Given the description of an element on the screen output the (x, y) to click on. 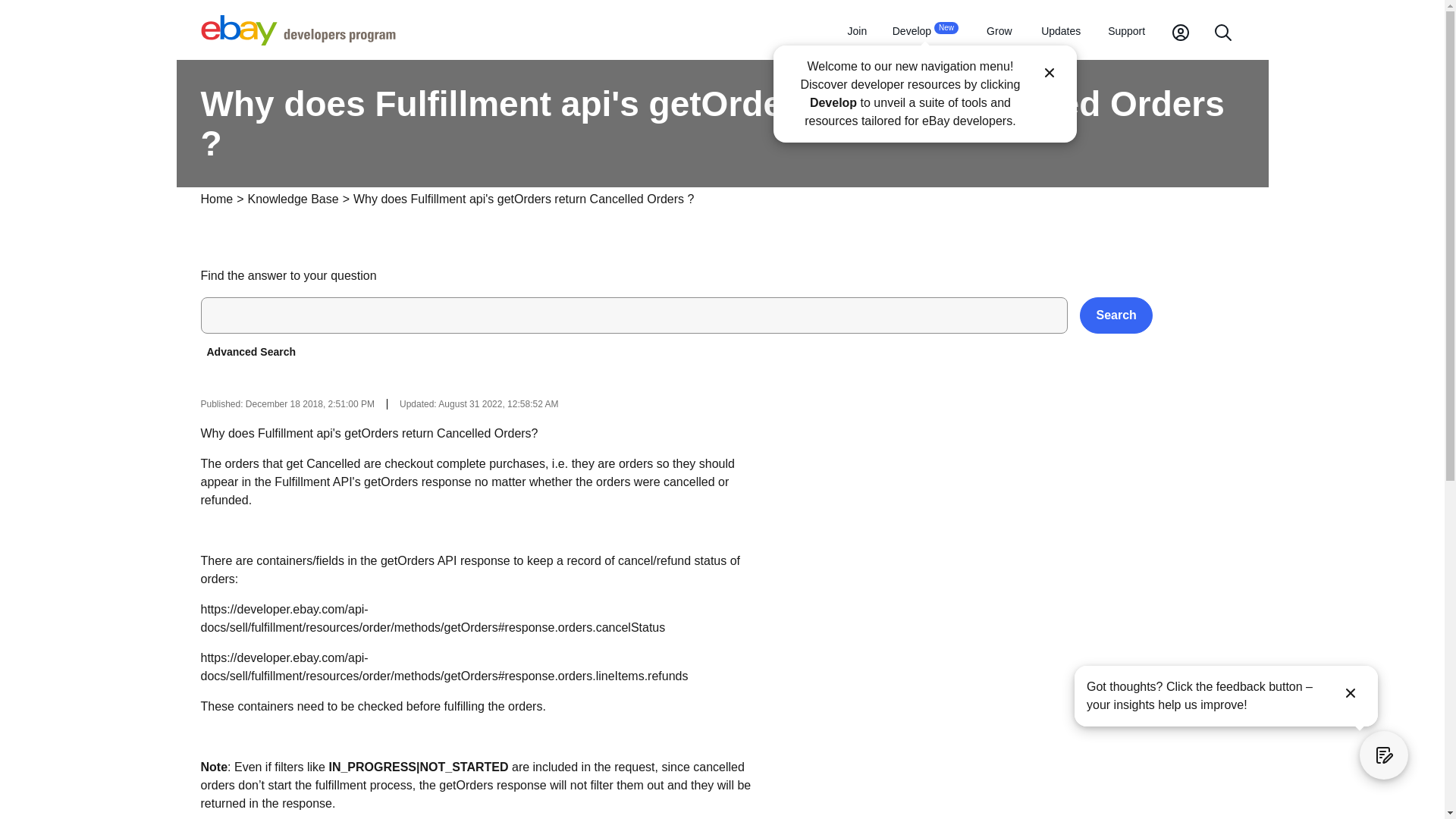
Join (924, 31)
Skip to main content (857, 31)
